Given the description of an element on the screen output the (x, y) to click on. 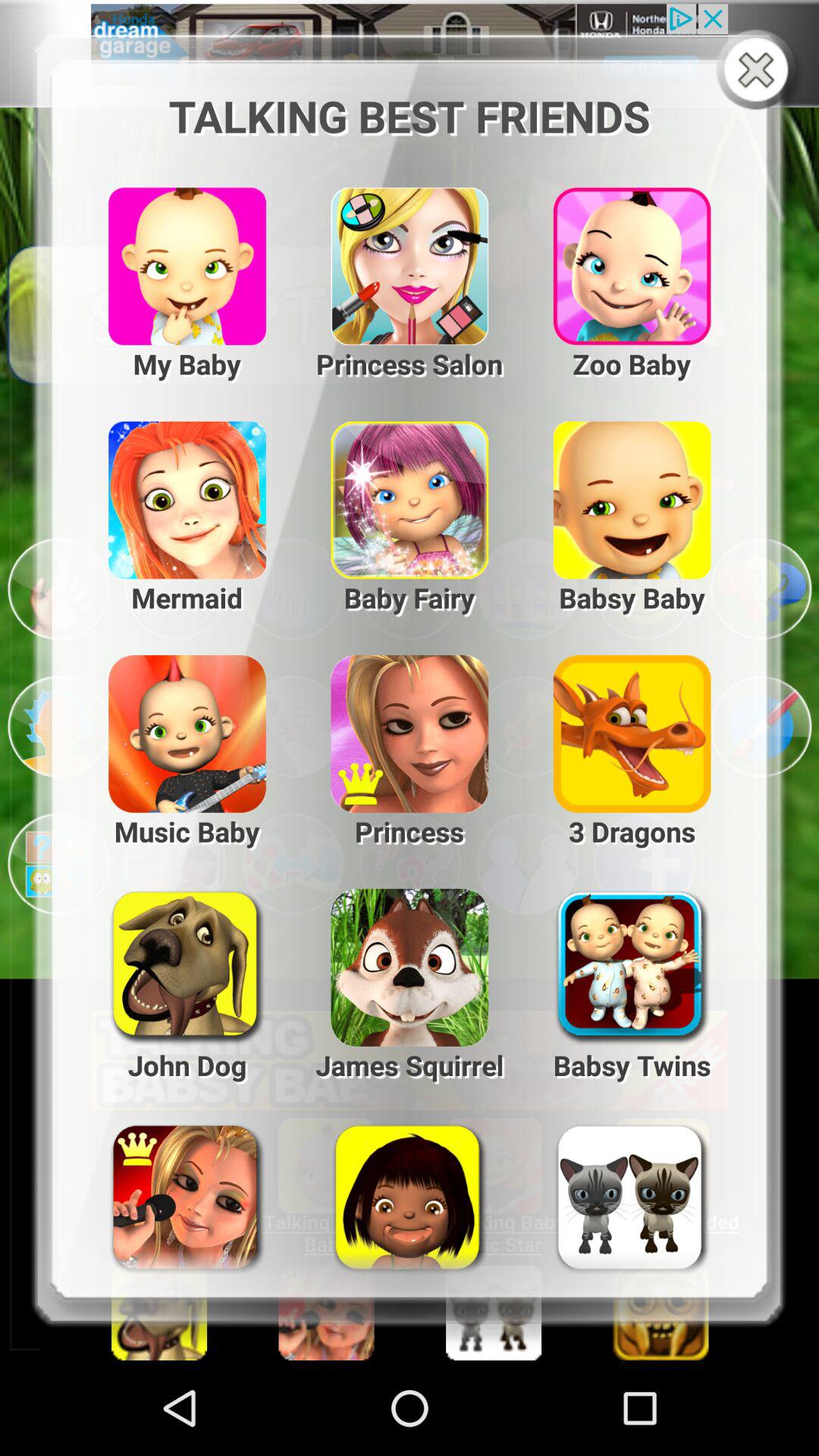
close window (759, 71)
